Given the description of an element on the screen output the (x, y) to click on. 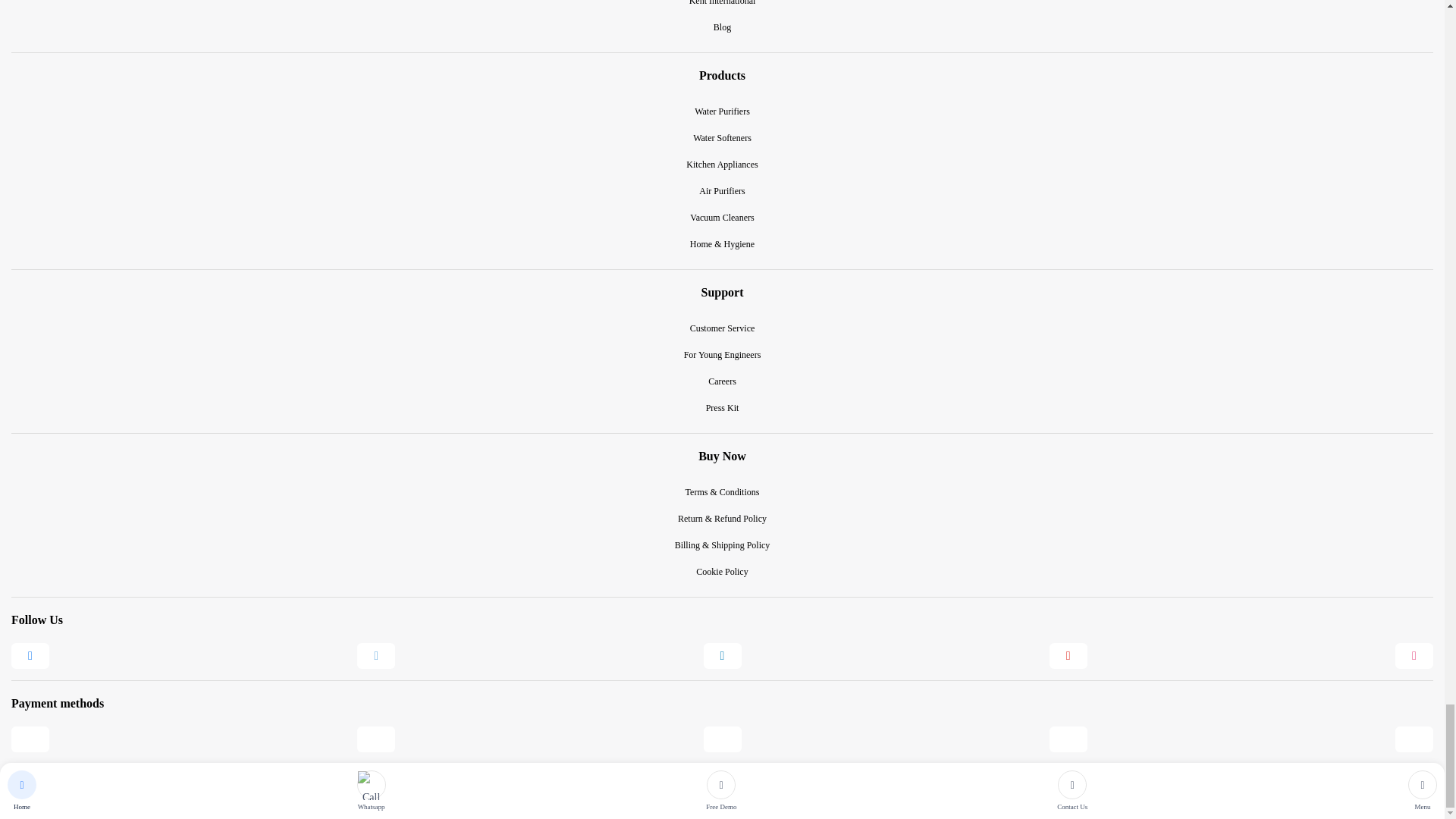
Water Purifiers (721, 111)
Cookie Policy (721, 571)
Water Softeners (722, 138)
Press Kit (722, 407)
Air Purifiers (721, 191)
Kitchen Appliances (721, 164)
Kent International (721, 7)
Customer Service (722, 328)
Vacuum Cleaners (722, 217)
Careers (721, 381)
